Given the description of an element on the screen output the (x, y) to click on. 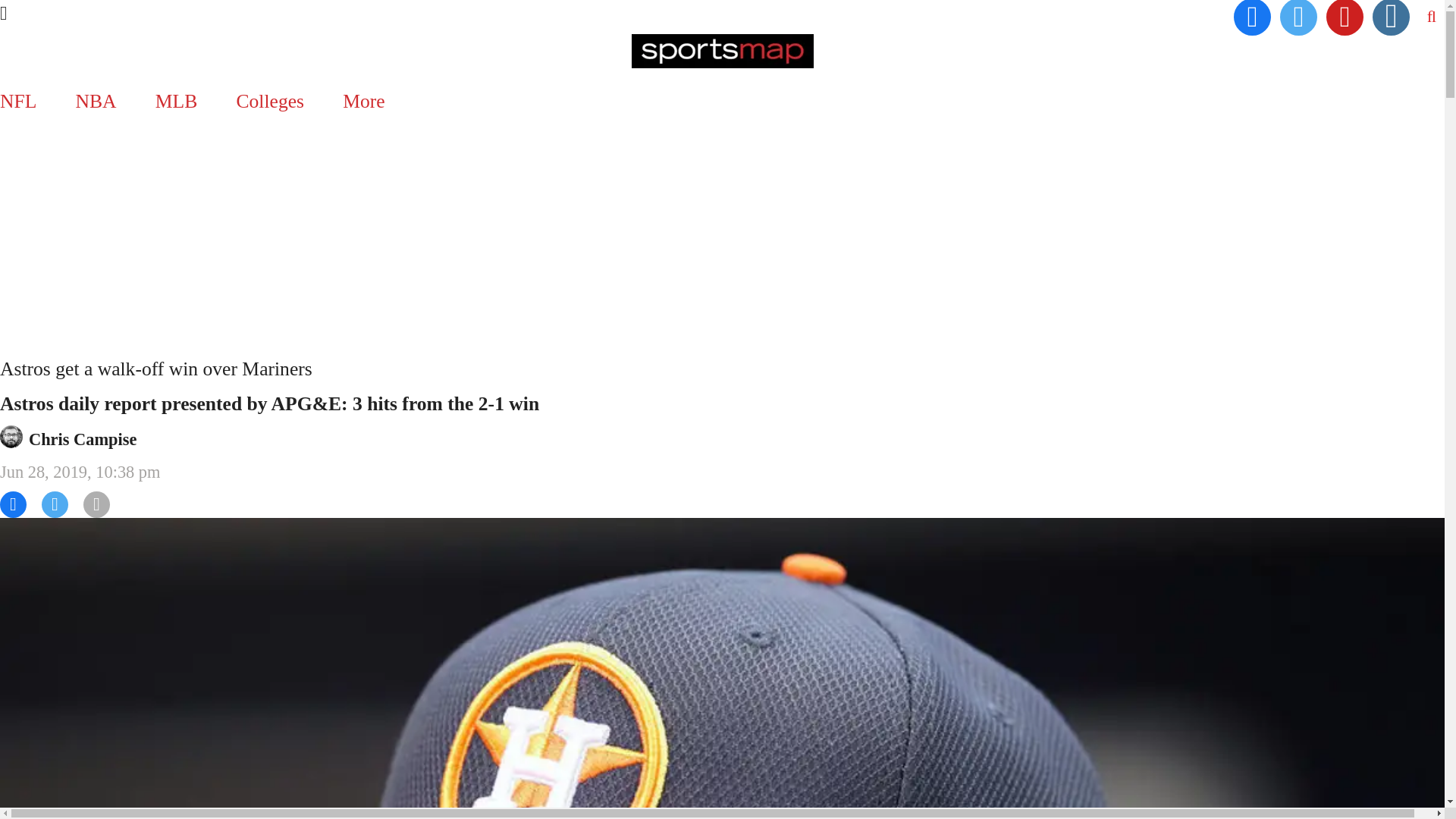
NBA (95, 100)
MLB (175, 100)
Chris Campise (82, 438)
More (363, 100)
Colleges (269, 100)
